Given the description of an element on the screen output the (x, y) to click on. 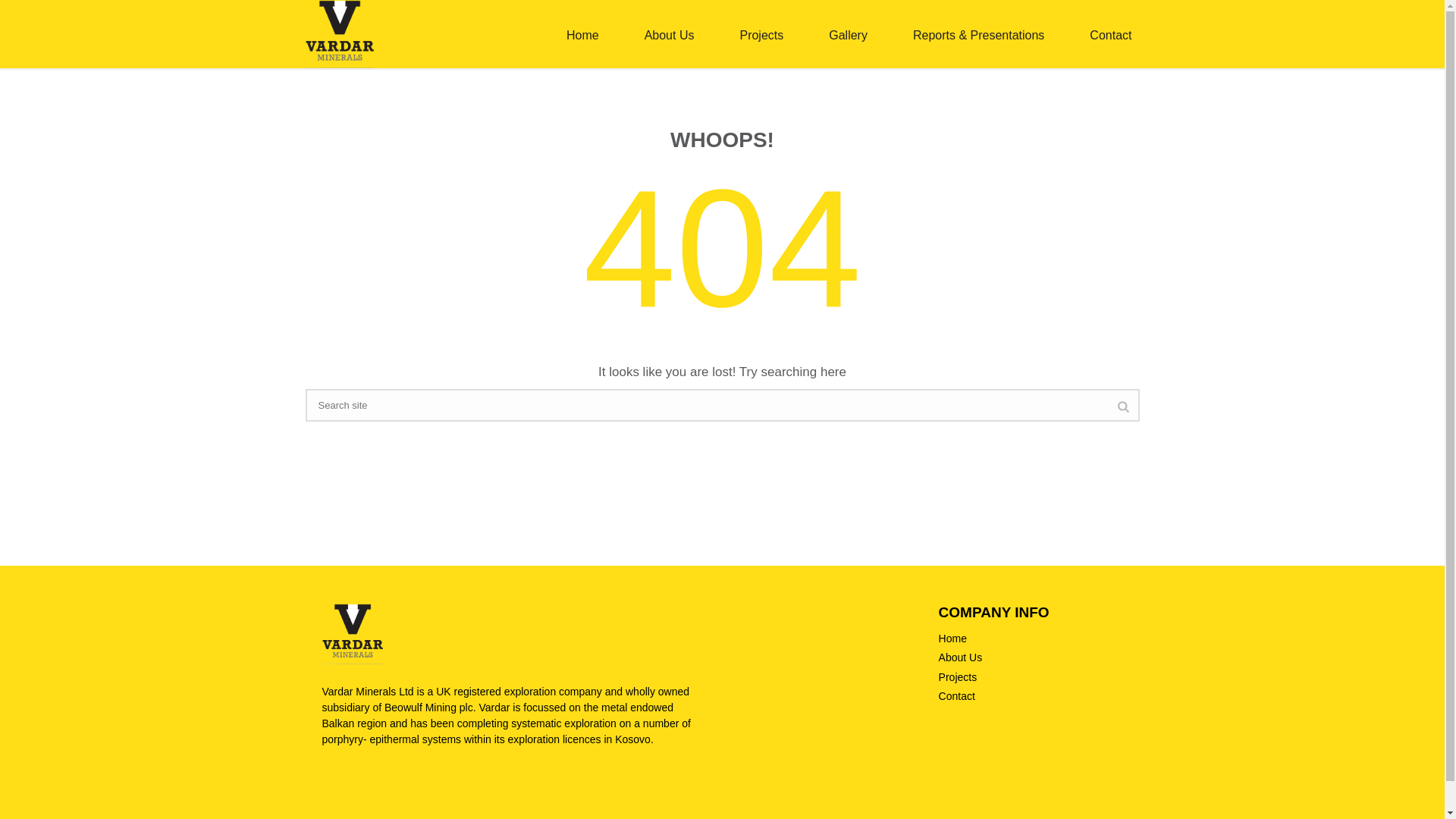
Gallery (847, 33)
Projects (761, 33)
Home (582, 33)
Home (582, 33)
Contact (1110, 33)
Gallery (847, 33)
About Us (669, 33)
About Us (669, 33)
Projects (957, 676)
Contact (1110, 33)
